Given the description of an element on the screen output the (x, y) to click on. 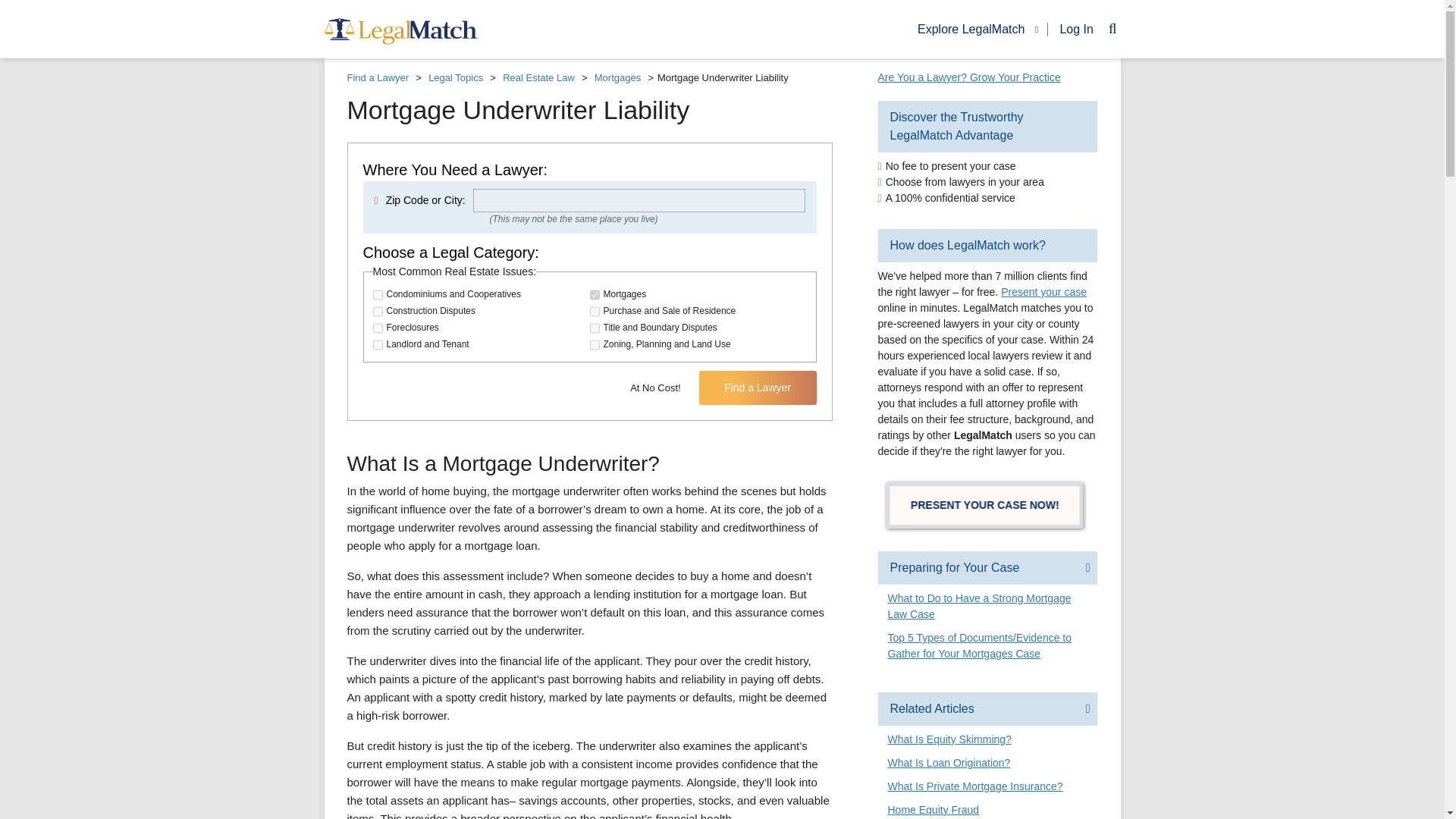
Find a Lawyer (757, 387)
Log In (1070, 29)
